Given the description of an element on the screen output the (x, y) to click on. 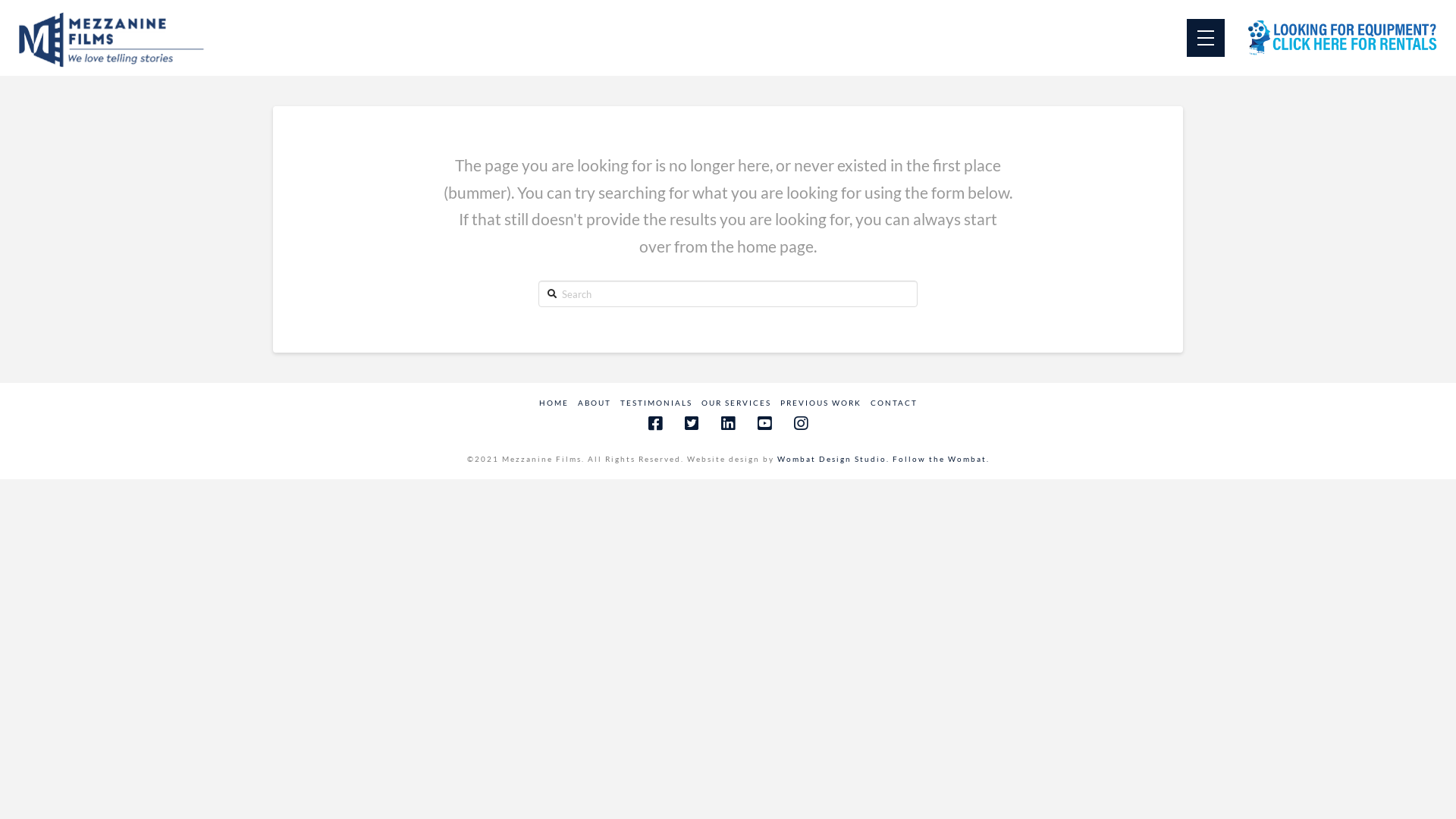
LinkedIn Element type: hover (727, 423)
PREVIOUS WORK Element type: text (819, 402)
CONTACT Element type: text (893, 402)
ABOUT Element type: text (594, 402)
TESTIMONIALS Element type: text (656, 402)
Instagram Element type: hover (800, 423)
Wombat Design Studio. Follow the Wombat. Element type: text (882, 458)
OUR SERVICES Element type: text (735, 402)
Facebook Element type: hover (655, 423)
YouTube Element type: hover (764, 423)
Twitter Element type: hover (691, 423)
HOME Element type: text (552, 402)
